Given the description of an element on the screen output the (x, y) to click on. 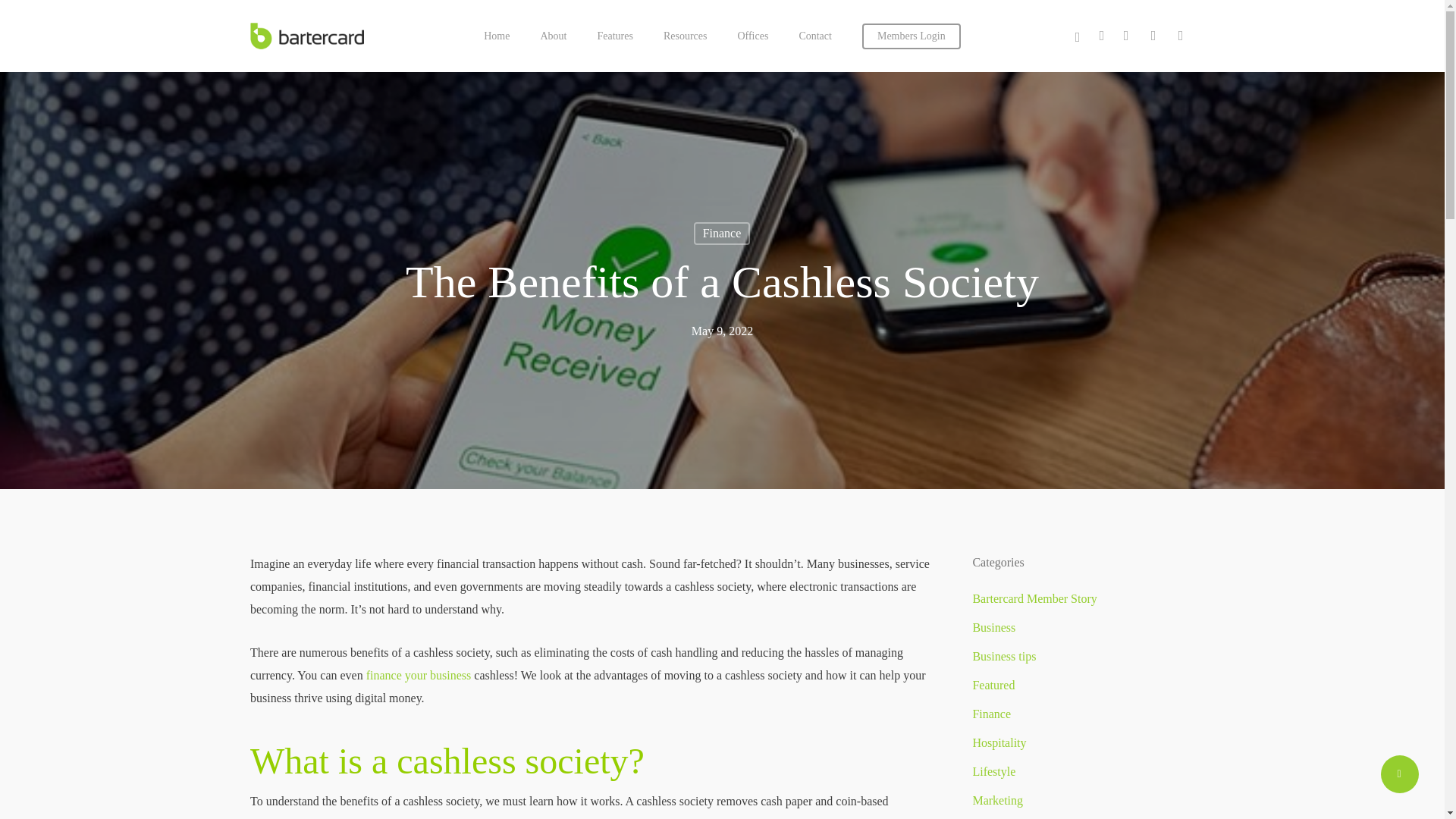
Features (613, 35)
About (553, 35)
Home (496, 35)
Finance (722, 232)
Offices (752, 35)
Bartercard Member Story (1082, 599)
Resources (685, 35)
Members Login (910, 35)
Contact (814, 35)
finance your business (418, 675)
